Given the description of an element on the screen output the (x, y) to click on. 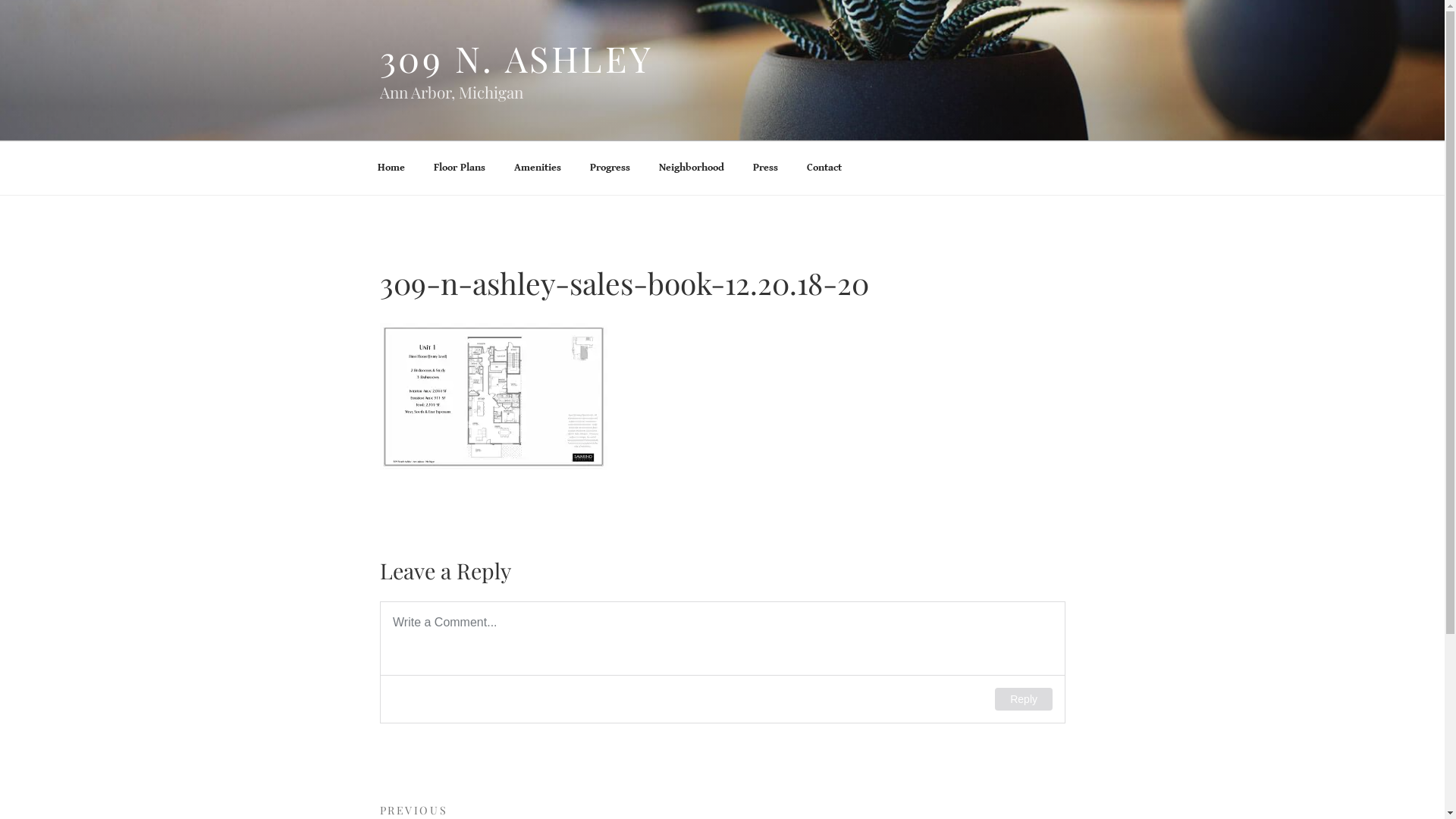
Floor Plans Element type: text (459, 167)
Neighborhood Element type: text (691, 167)
Contact Element type: text (823, 167)
Comment Form Element type: hover (721, 662)
Press Element type: text (765, 167)
309 N. ASHLEY Element type: text (516, 57)
Progress Element type: text (609, 167)
Home Element type: text (390, 167)
Amenities Element type: text (537, 167)
